Given the description of an element on the screen output the (x, y) to click on. 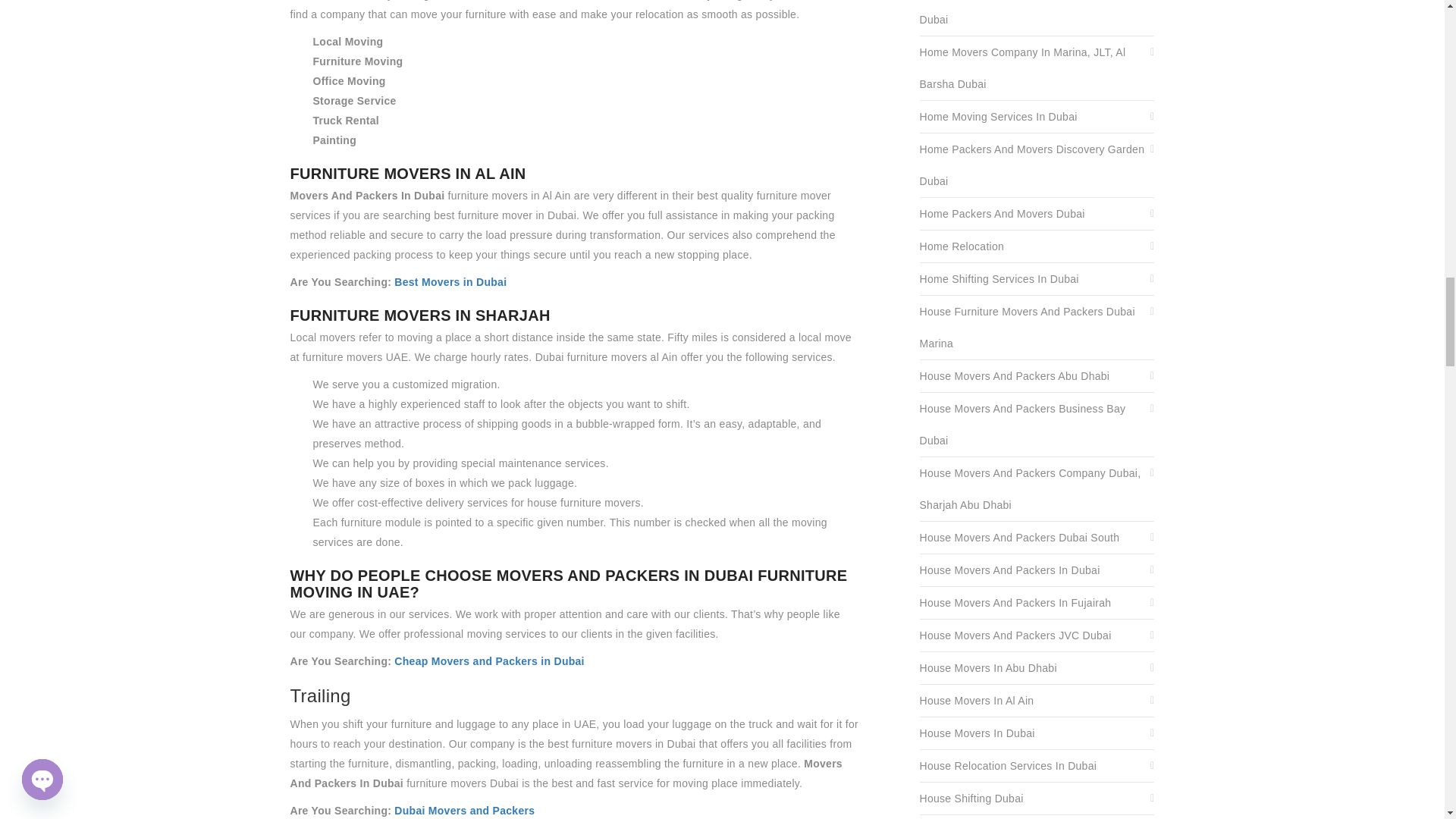
Dubai Movers and Packers (464, 810)
Best Movers in Dubai (450, 282)
Cheap Movers and Packers in Dubai (488, 661)
